Given the description of an element on the screen output the (x, y) to click on. 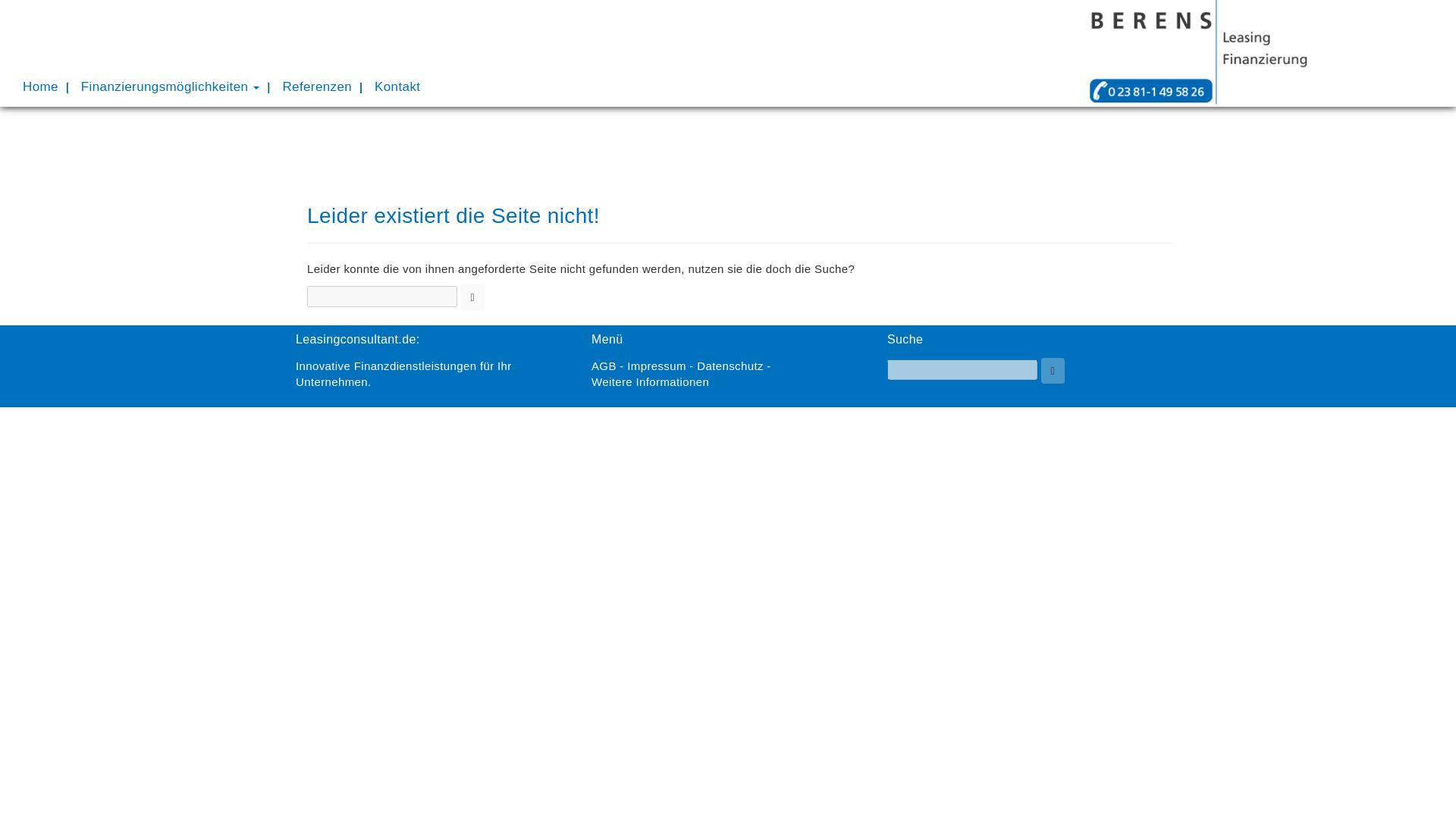
Kontakt (396, 86)
Home (40, 86)
Referenzen (316, 86)
Kontakt (396, 86)
Referenzen (316, 86)
Home (40, 86)
